Given the description of an element on the screen output the (x, y) to click on. 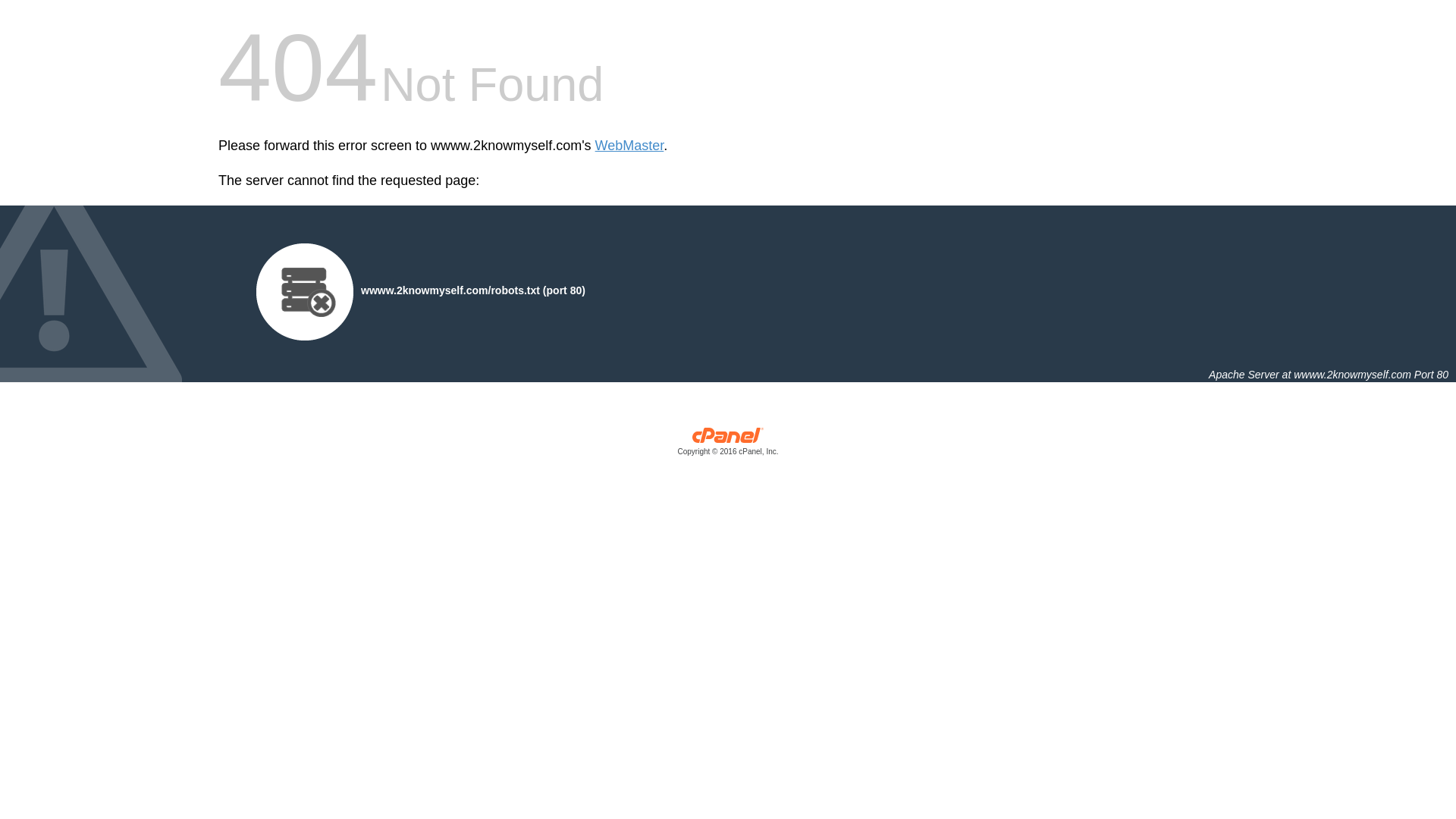
WebMaster Element type: text (629, 145)
